Given the description of an element on the screen output the (x, y) to click on. 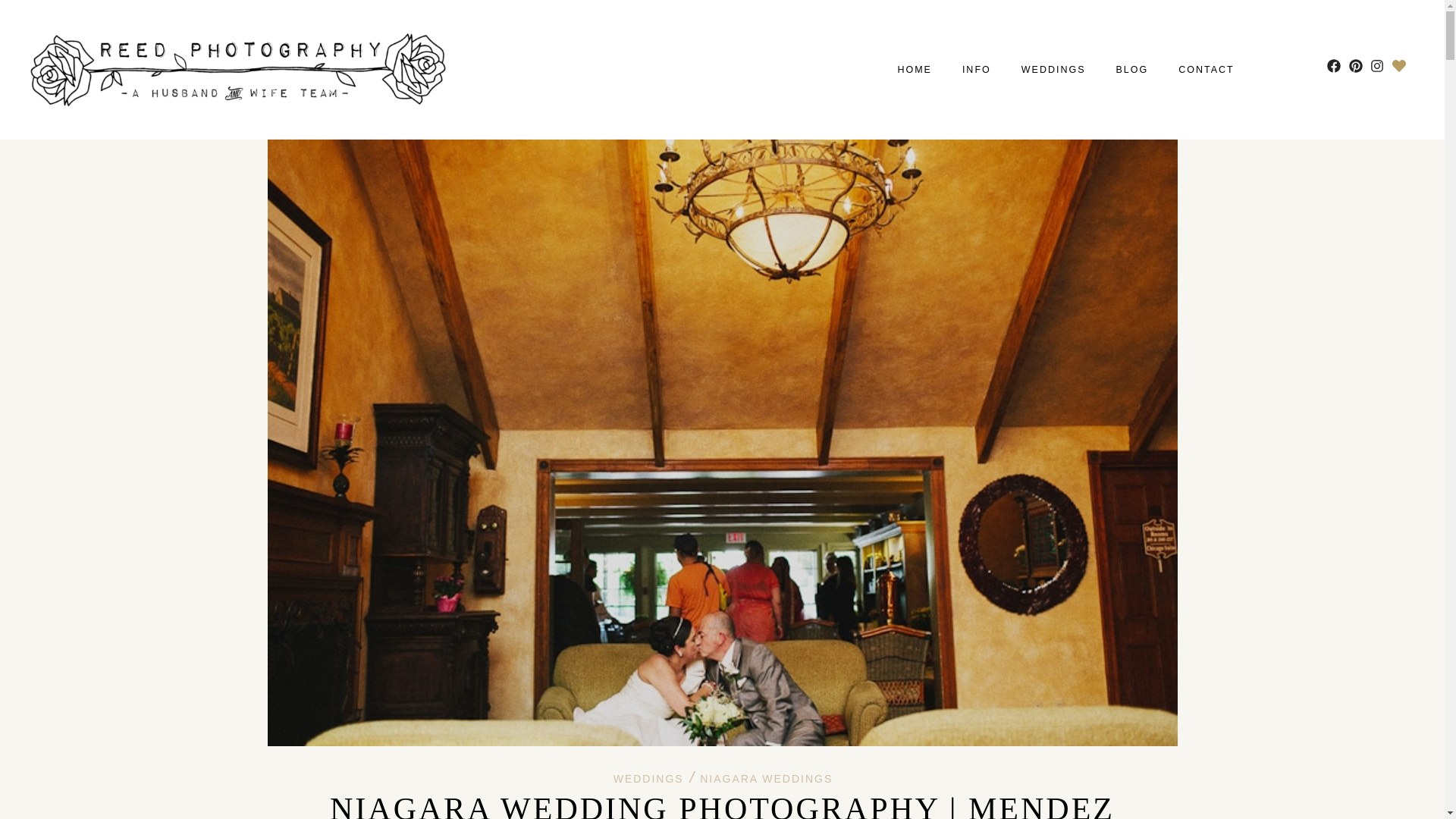
HOME (913, 70)
INFO (976, 70)
WEDDINGS (1054, 70)
NIAGARA WEDDINGS (766, 778)
BLOG (1132, 70)
CONTACT (1205, 70)
WEDDINGS (648, 778)
